Given the description of an element on the screen output the (x, y) to click on. 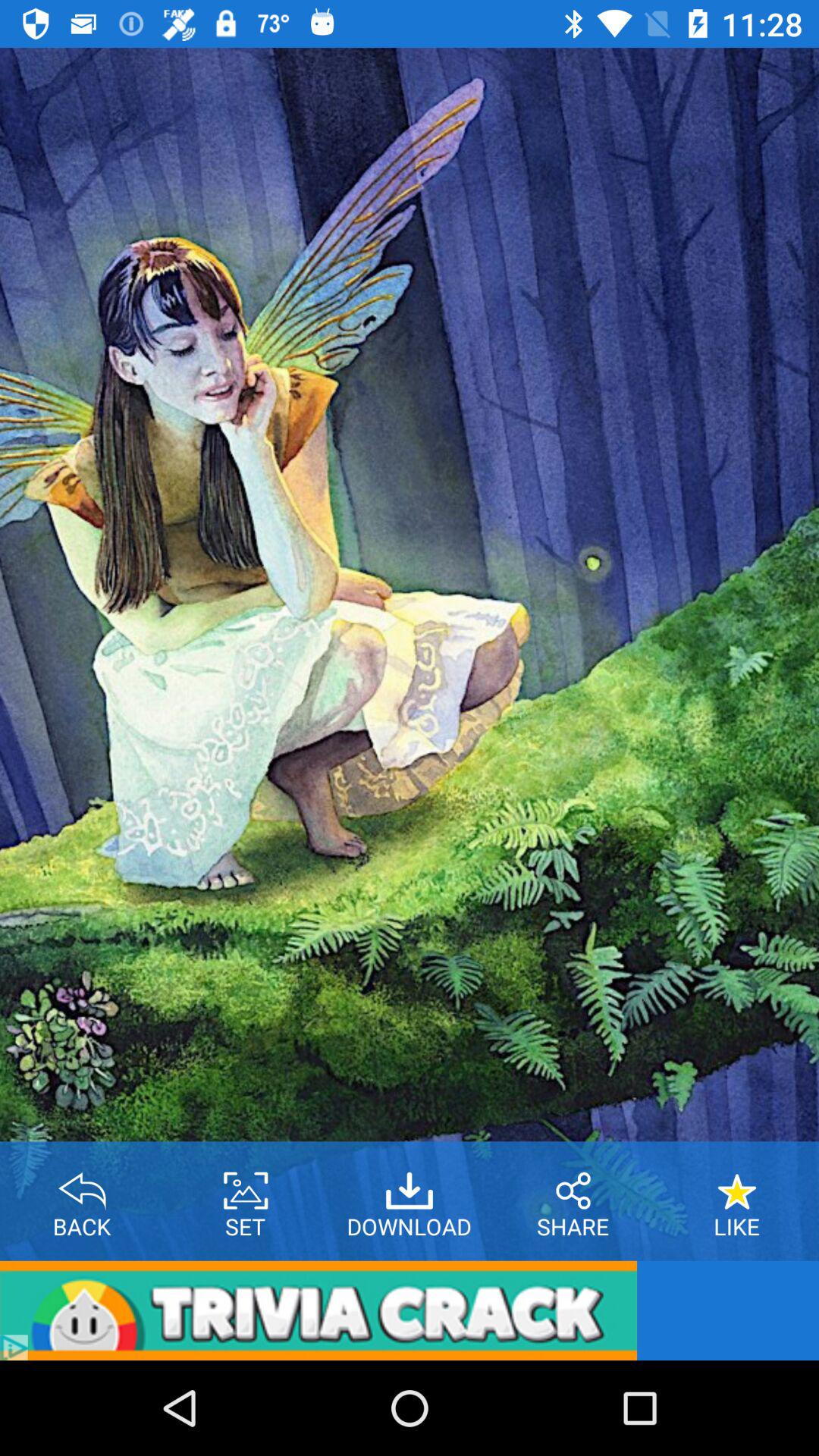
choose the item below the back (318, 1310)
